Given the description of an element on the screen output the (x, y) to click on. 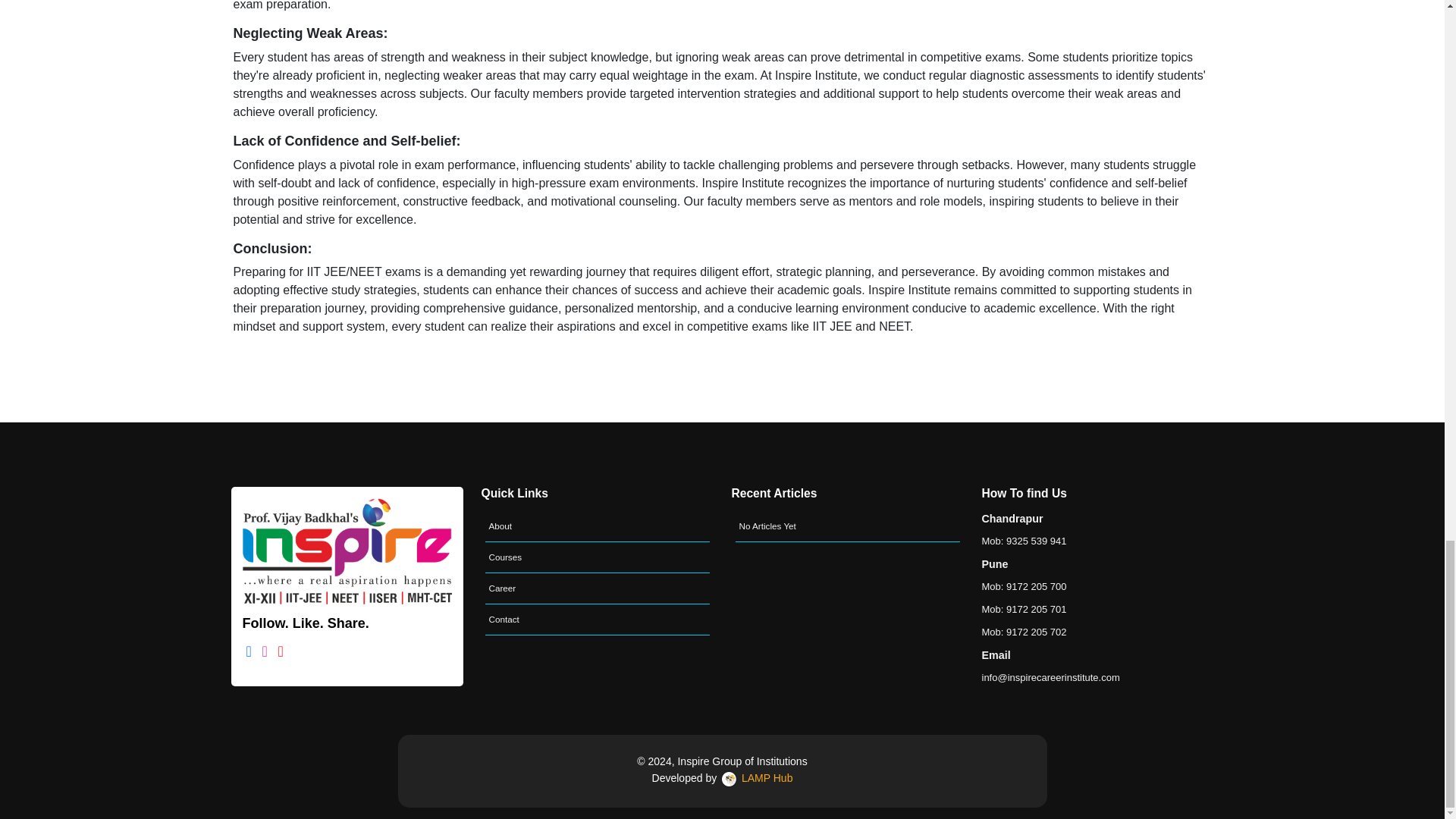
Contact (597, 619)
No Articles Yet (847, 526)
About (597, 526)
Courses (597, 557)
Career (597, 588)
 LAMP Hub (755, 777)
